Given the description of an element on the screen output the (x, y) to click on. 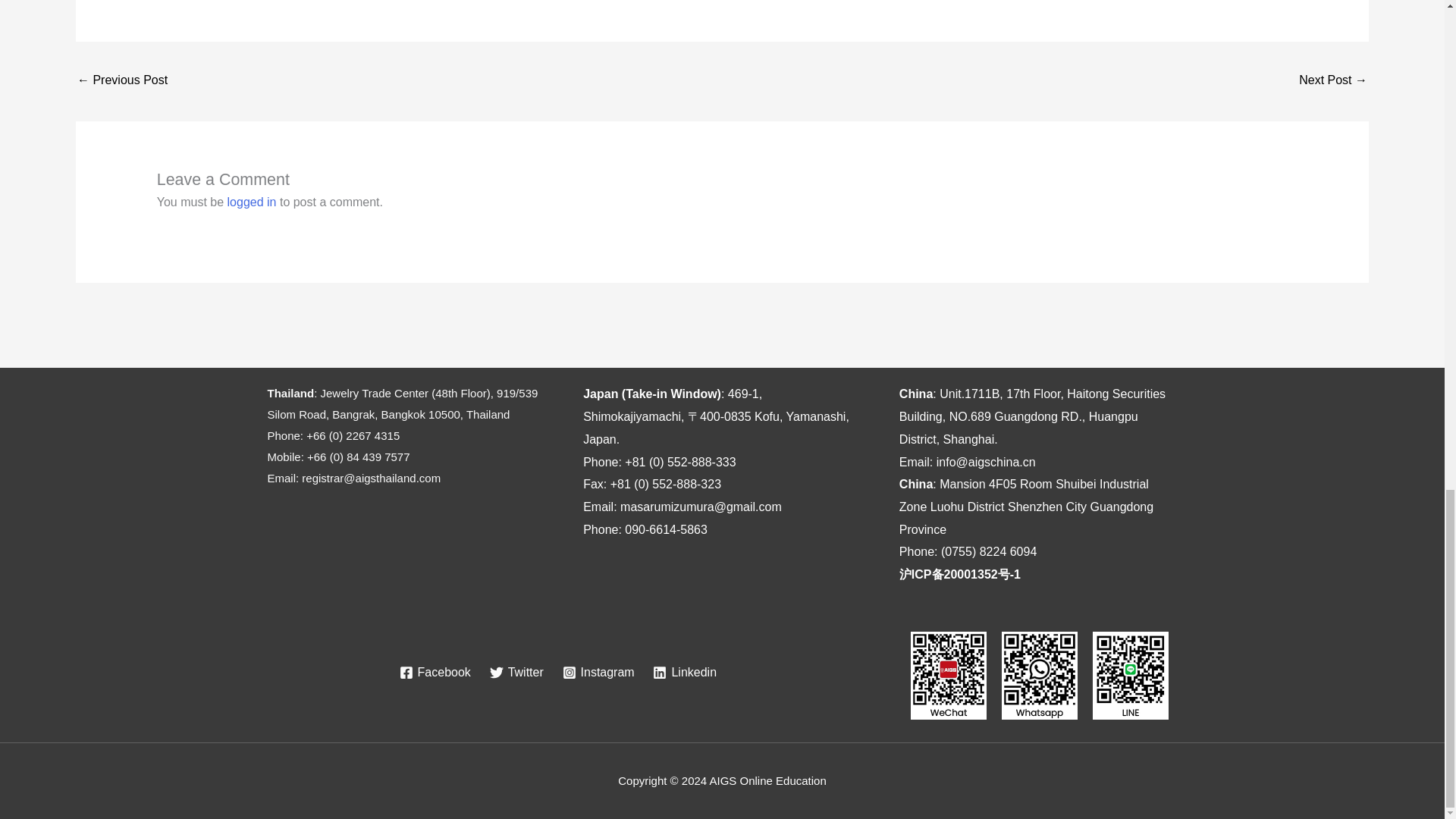
Facebook (435, 672)
Linkedin (683, 672)
Instagram (598, 672)
Twitter (516, 672)
logged in (251, 201)
